Given the description of an element on the screen output the (x, y) to click on. 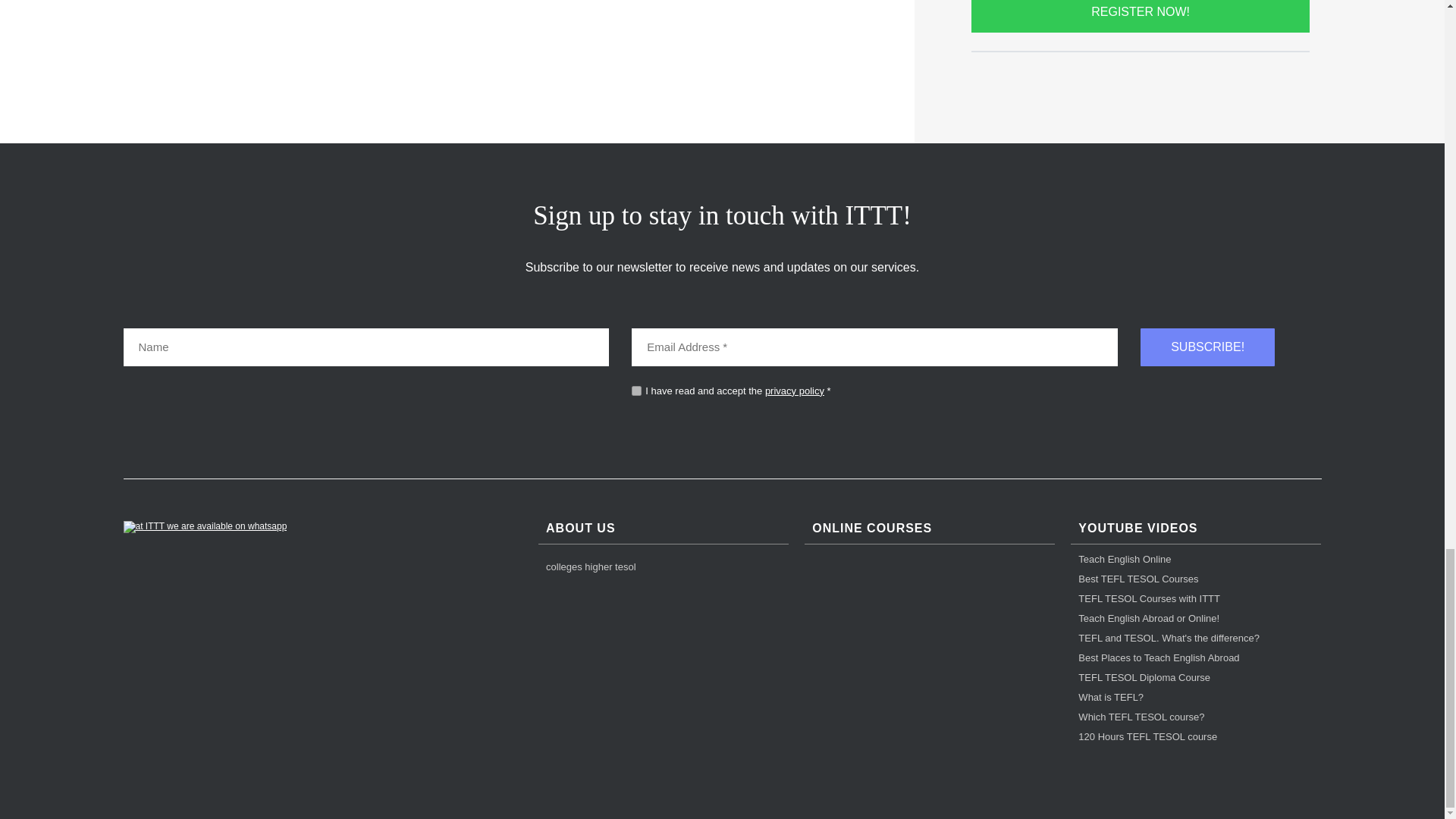
1 (636, 390)
